Given the description of an element on the screen output the (x, y) to click on. 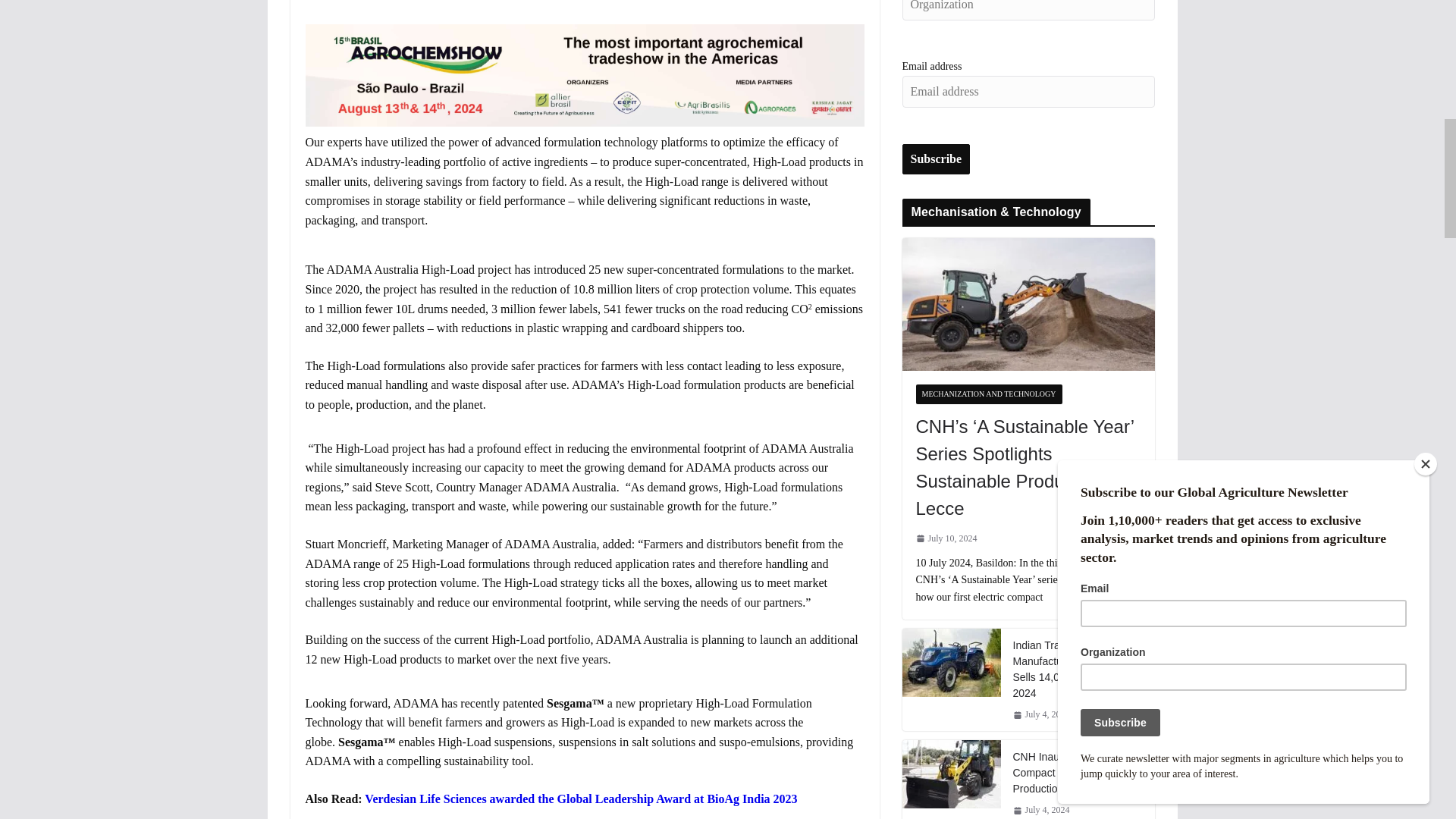
Subscribe (936, 159)
